Given the description of an element on the screen output the (x, y) to click on. 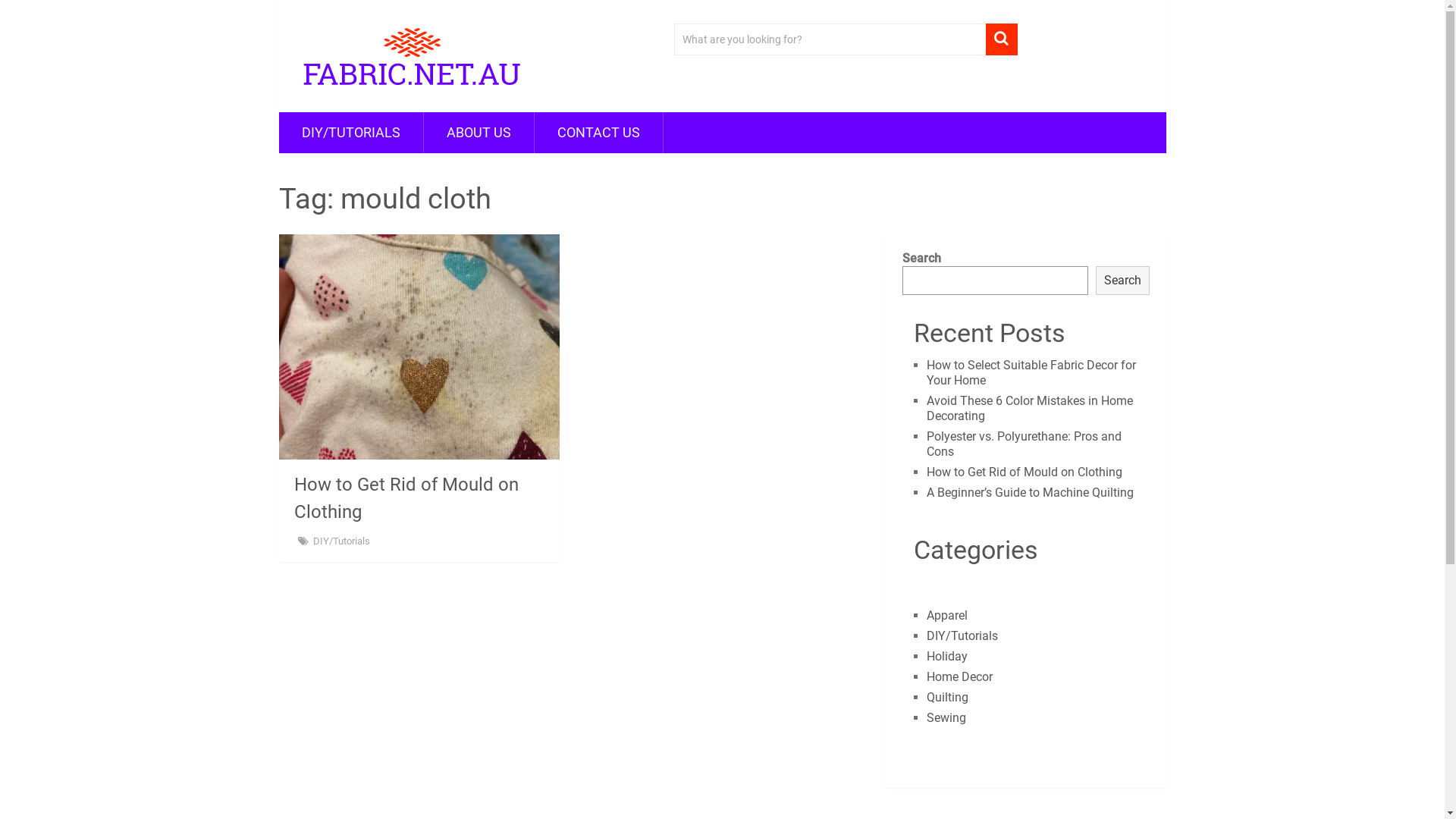
Holiday Element type: text (946, 656)
CONTACT US Element type: text (597, 132)
Polyester vs. Polyurethane: Pros and Cons Element type: text (1023, 443)
Sewing Element type: text (946, 717)
DIY/Tutorials Element type: text (961, 635)
Quilting Element type: text (947, 697)
DIY/TUTORIALS Element type: text (351, 132)
How to Get Rid of Mould on Clothing Element type: hover (419, 346)
How to Get Rid of Mould on Clothing Element type: text (406, 497)
Search Element type: text (1121, 280)
How to Select Suitable Fabric Decor for Your Home Element type: text (1030, 372)
ABOUT US Element type: text (478, 132)
Avoid These 6 Color Mistakes in Home Decorating Element type: text (1029, 408)
How to Get Rid of Mould on Clothing Element type: text (1024, 471)
Home Decor Element type: text (959, 676)
DIY/Tutorials Element type: text (340, 540)
Apparel Element type: text (946, 615)
